Given the description of an element on the screen output the (x, y) to click on. 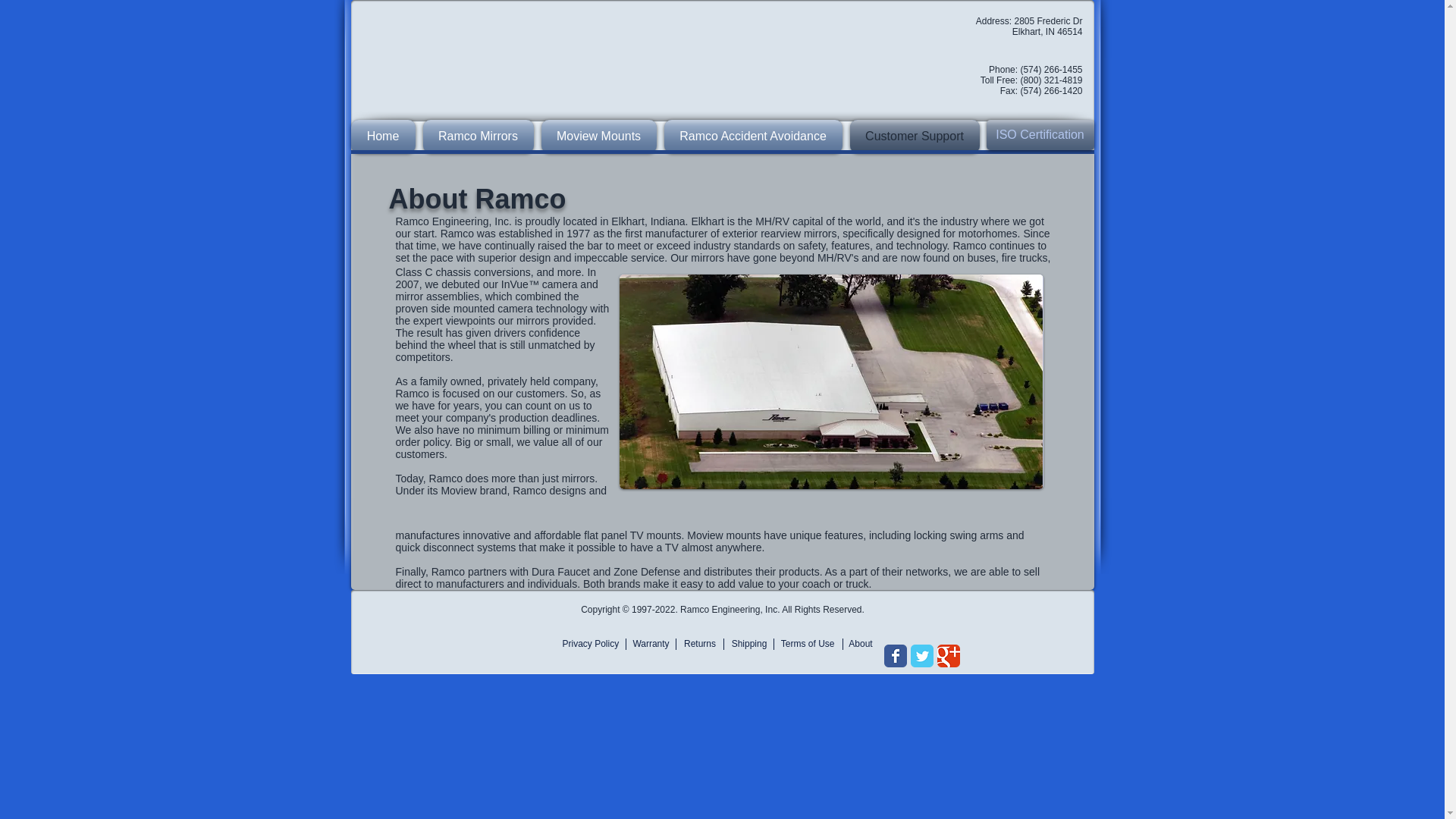
Customer Support (912, 136)
Home (384, 136)
Ramco Accident Avoidance (752, 136)
Moview Mounts (598, 136)
Ramco Mirrors (478, 136)
Warranty (649, 644)
Facebook Like (912, 600)
Terms of Use (805, 644)
About (860, 644)
ISO Certification (1039, 134)
Ramco Engineering bird eye view (830, 381)
Privacy Policy (593, 644)
Returns (699, 644)
Shipping (748, 644)
Twitter Follow (919, 615)
